Given the description of an element on the screen output the (x, y) to click on. 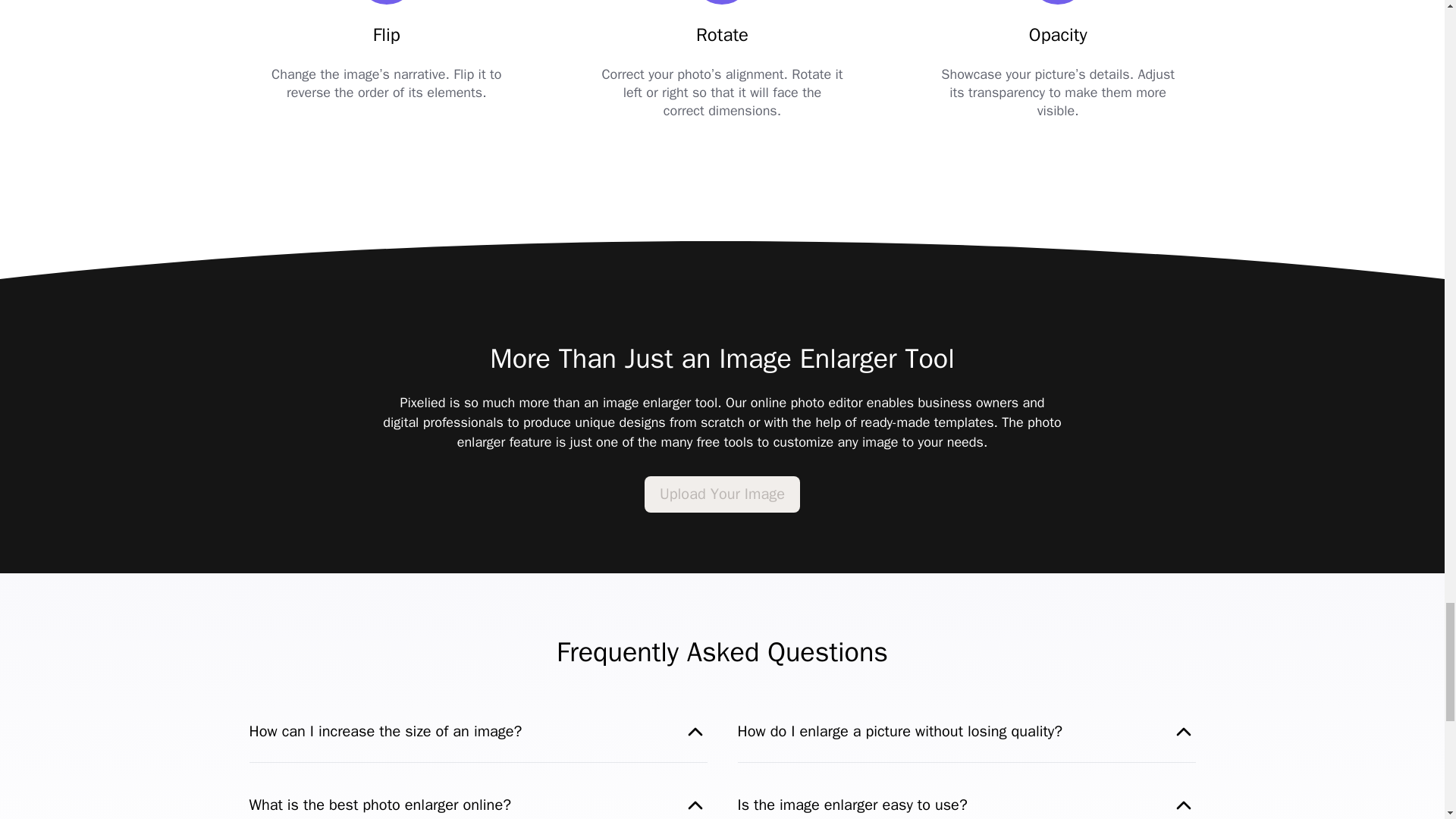
What is the best photo enlarger online? (477, 805)
How can I increase the size of an image? (477, 731)
Upload Your Image (722, 493)
How do I enlarge a picture without losing quality? (965, 731)
Is the image enlarger easy to use? (965, 805)
